Given the description of an element on the screen output the (x, y) to click on. 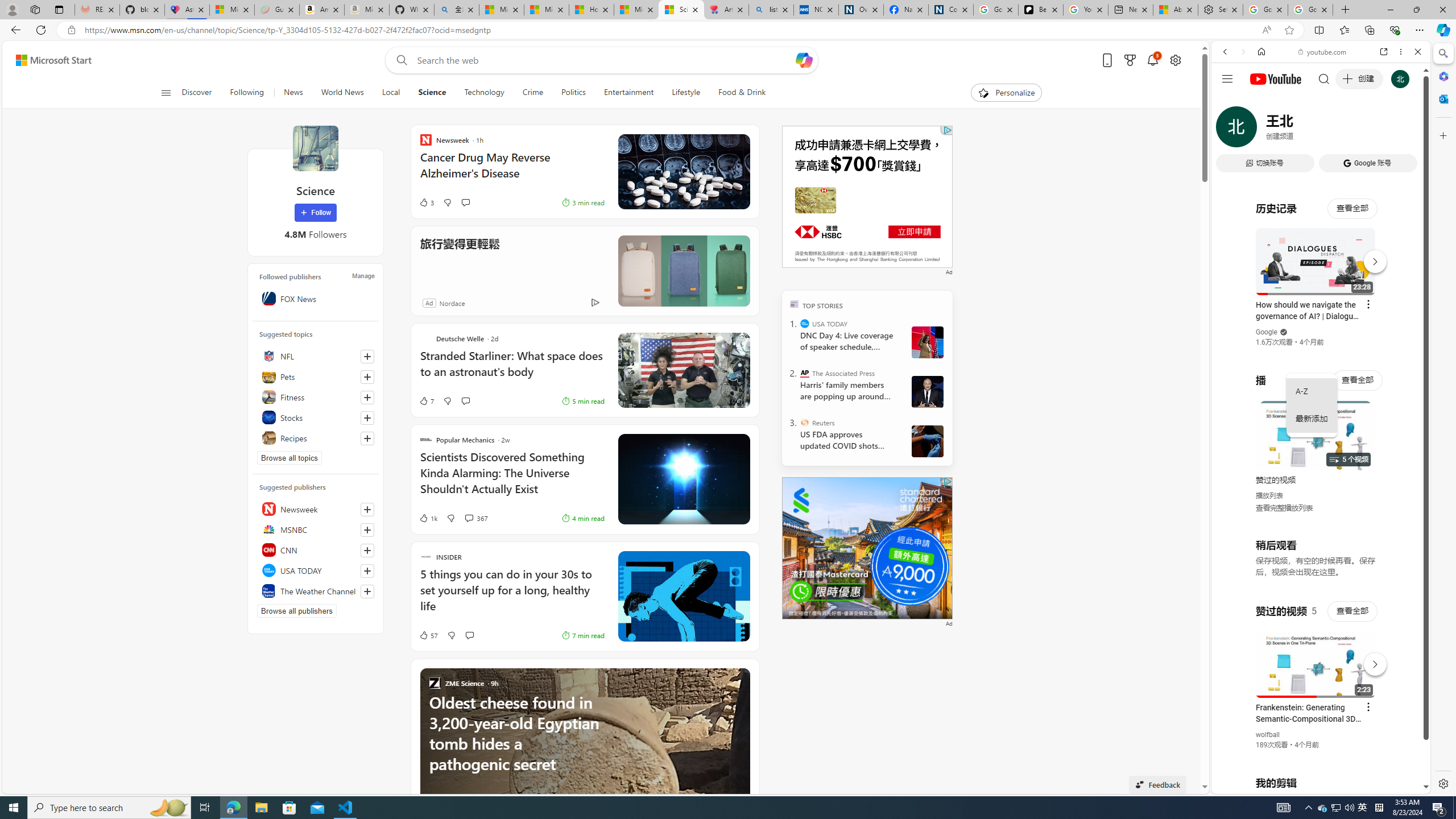
youtube.com (1322, 51)
3 Like (425, 202)
Cookies (950, 9)
Stocks (315, 417)
Open settings (1175, 60)
US[ju] (1249, 785)
Search the web (1326, 78)
Follow this source (367, 591)
